Given the description of an element on the screen output the (x, y) to click on. 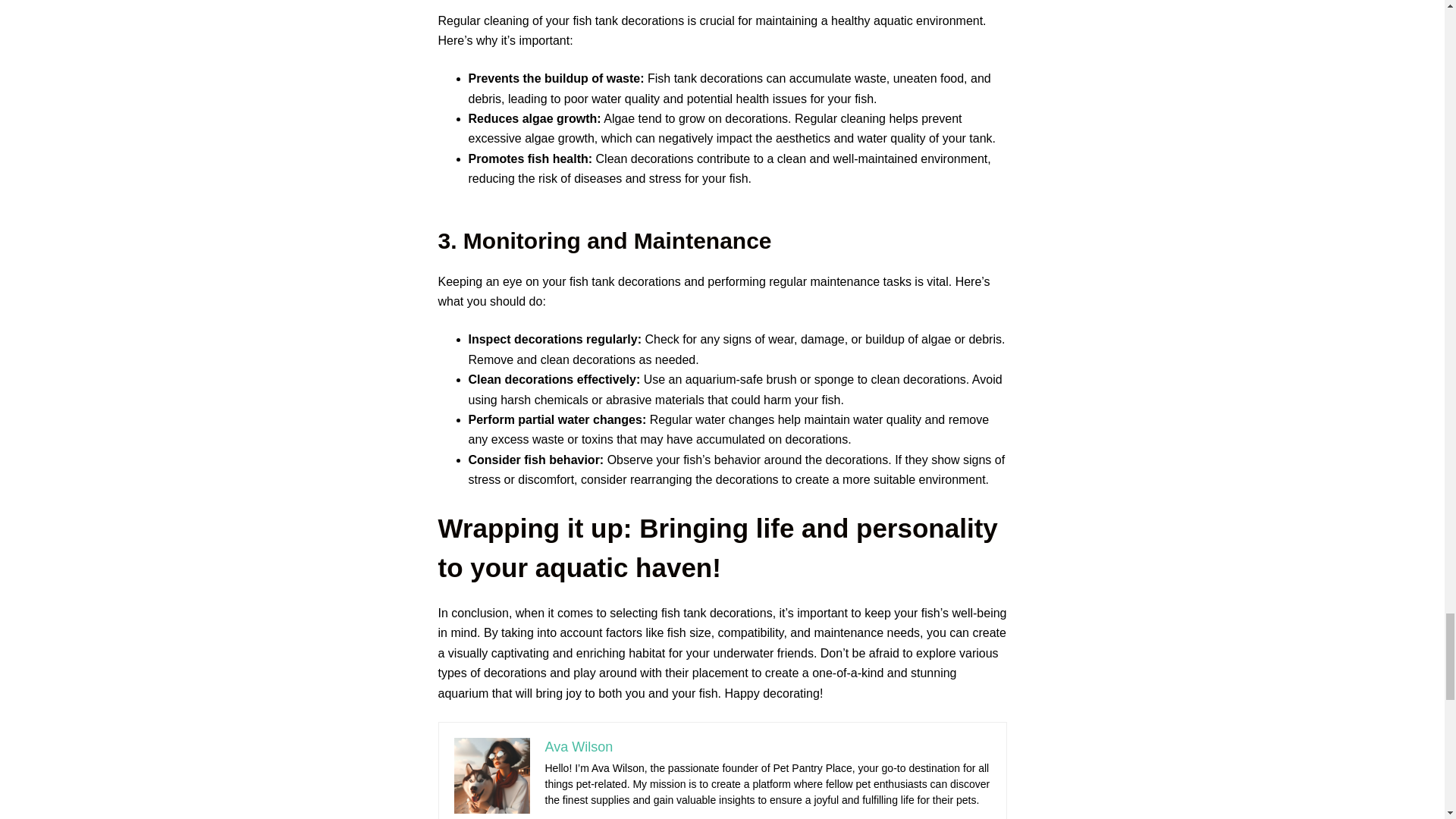
Ava Wilson (578, 746)
